Given the description of an element on the screen output the (x, y) to click on. 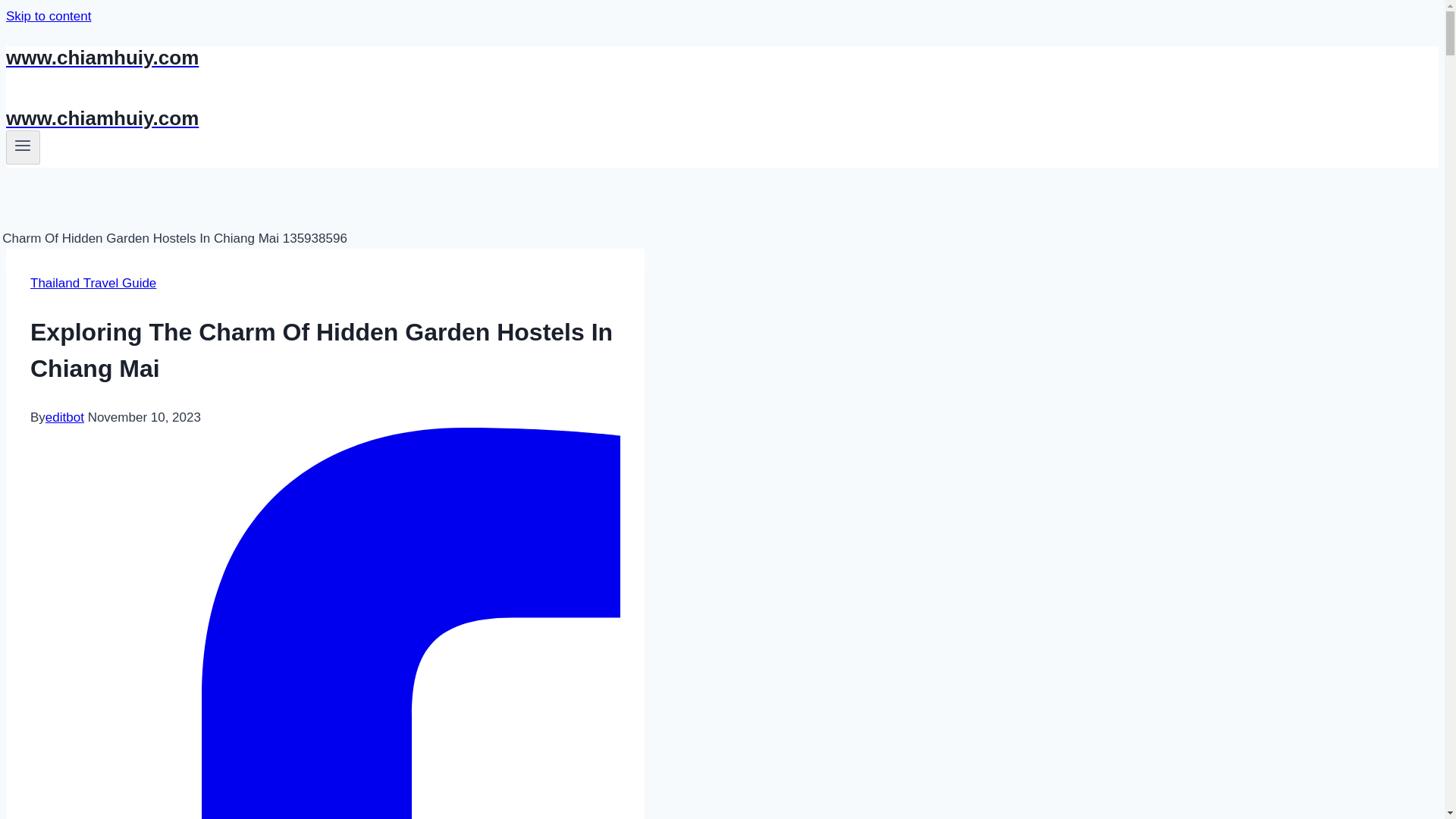
Skip to content (47, 16)
Toggle Menu (22, 145)
editbot (64, 417)
Skip to content (47, 16)
Thailand Travel Guide (92, 283)
www.chiamhuiy.com (494, 118)
www.chiamhuiy.com (494, 57)
Toggle Menu (22, 146)
